Given the description of an element on the screen output the (x, y) to click on. 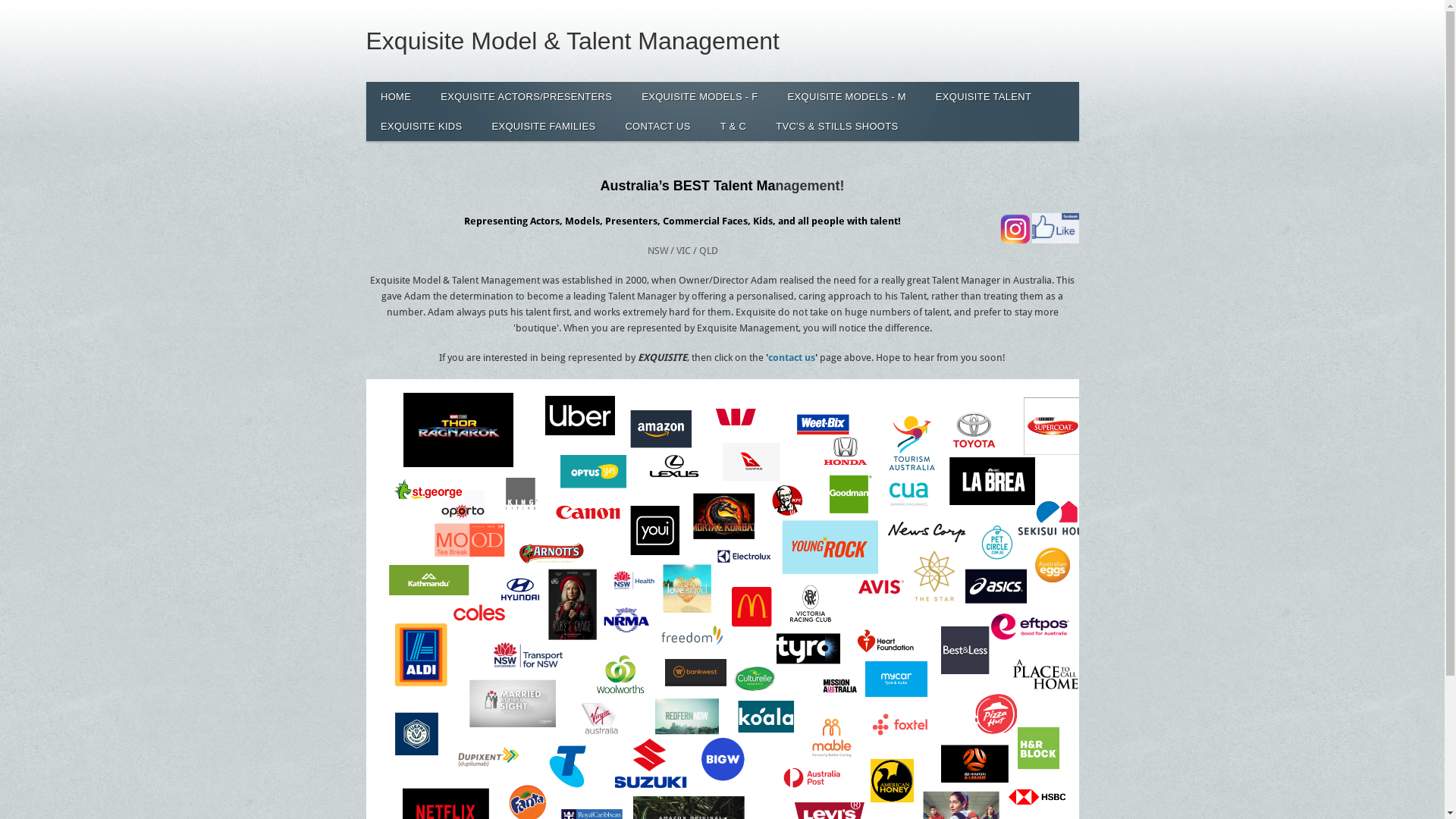
T & C Element type: text (733, 126)
EXQUISITE KIDS Element type: text (420, 126)
EXQUISITE MODELS - F Element type: text (699, 96)
CONTACT US Element type: text (657, 126)
EXQUISITE ACTORS/PRESENTERS Element type: text (526, 96)
EXQUISITE FAMILIES Element type: text (543, 126)
contact us Element type: text (791, 357)
TVC'S & STILLS SHOOTS Element type: text (837, 126)
EXQUISITE TALENT Element type: text (982, 96)
EXQUISITE MODELS - M Element type: text (846, 96)
HOME Element type: text (395, 96)
